Given the description of an element on the screen output the (x, y) to click on. 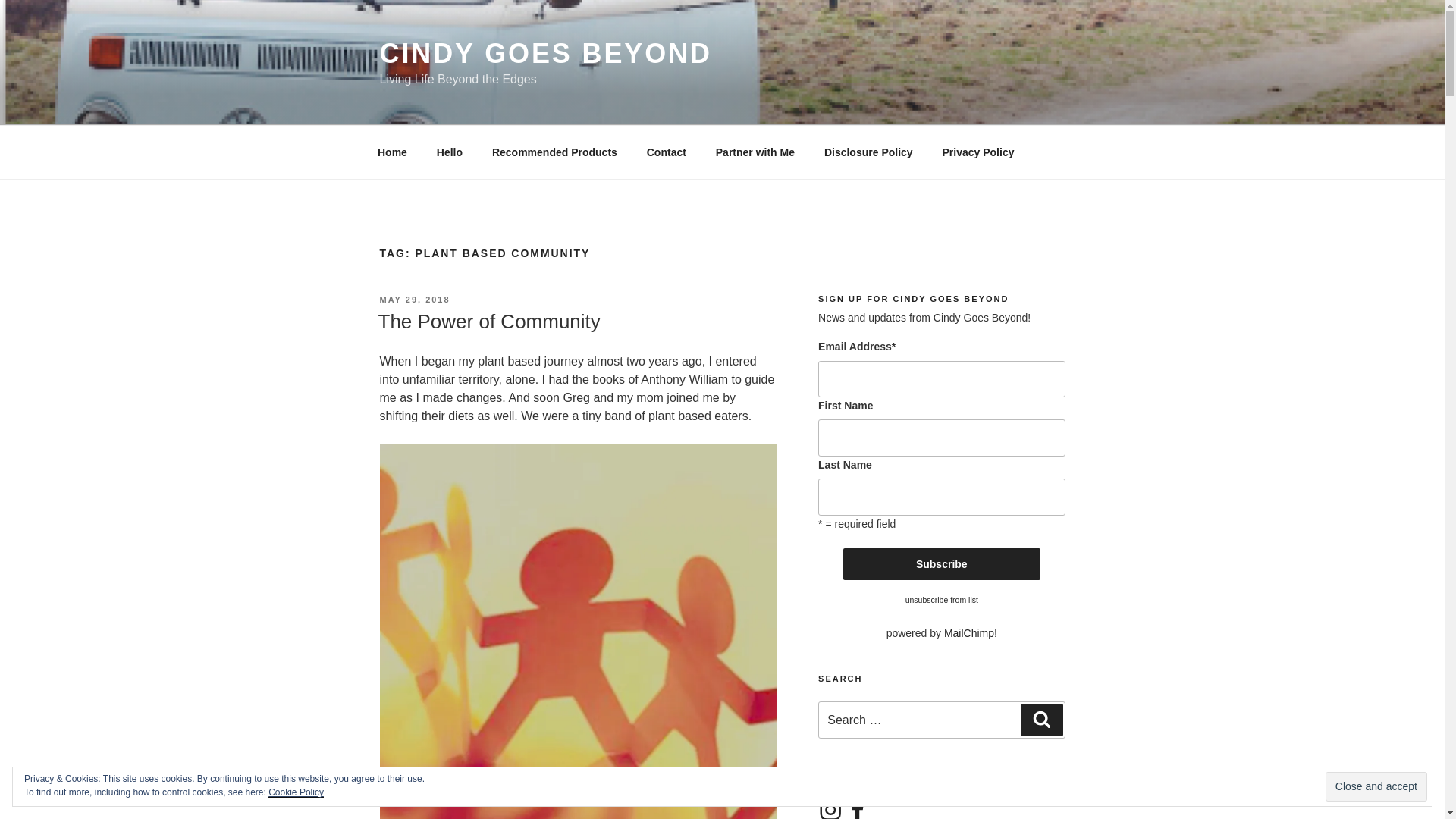
Home (392, 151)
Search (1041, 719)
Contact (665, 151)
MailChimp (968, 633)
Hello (449, 151)
unsubscribe from list (941, 599)
Disclosure Policy (868, 151)
MAY 29, 2018 (413, 298)
Close and accept (1375, 786)
Partner with Me (754, 151)
Instagram (830, 808)
Facebook (857, 808)
Recommended Products (554, 151)
CINDY GOES BEYOND (544, 52)
Subscribe (942, 563)
